Given the description of an element on the screen output the (x, y) to click on. 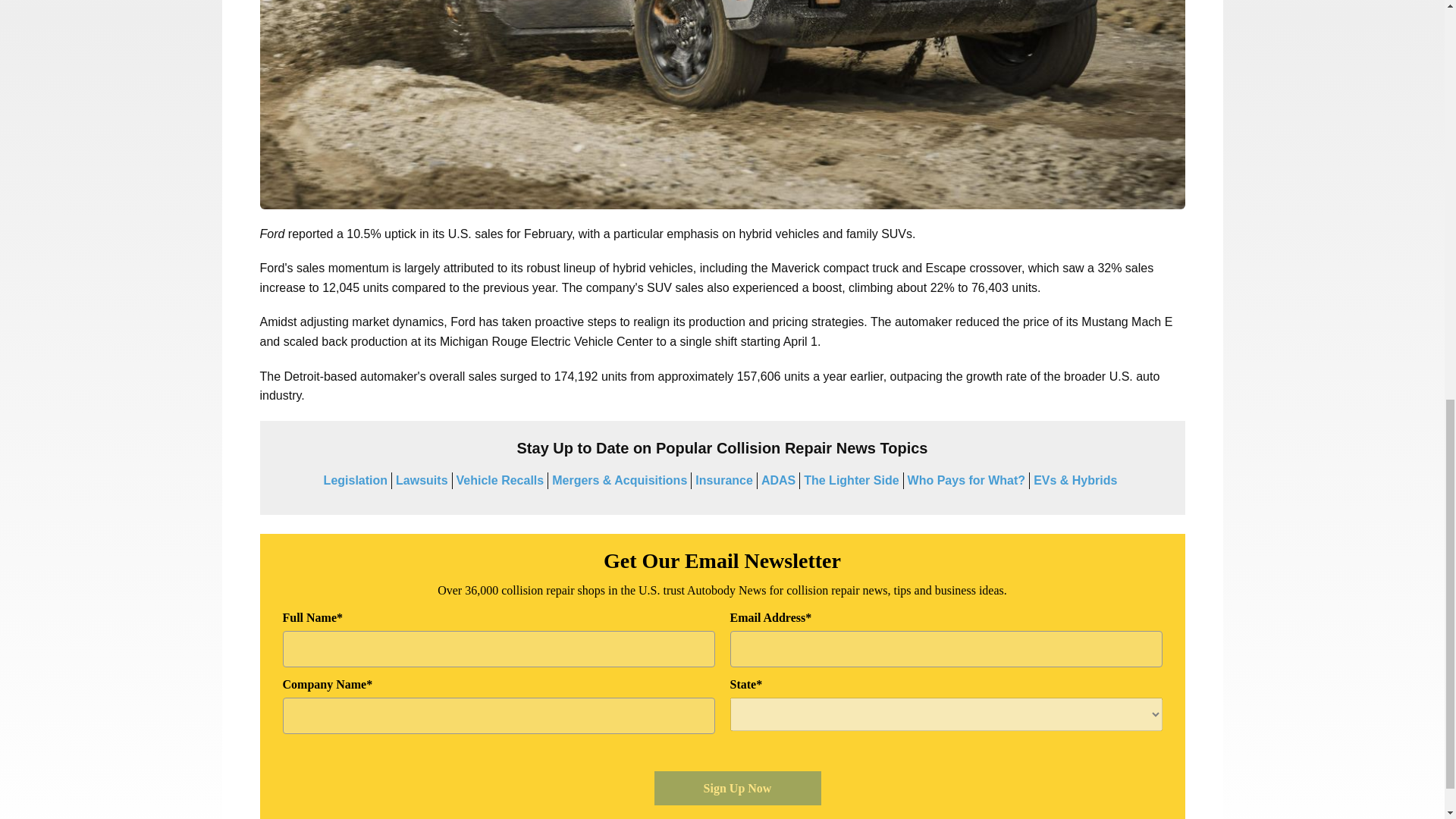
Who Pays for What? (966, 480)
ADAS (777, 480)
The Lighter Side (850, 480)
Legislation (355, 480)
Lawsuits (421, 480)
Vehicle Recalls (500, 480)
Insurance (723, 480)
